Given the description of an element on the screen output the (x, y) to click on. 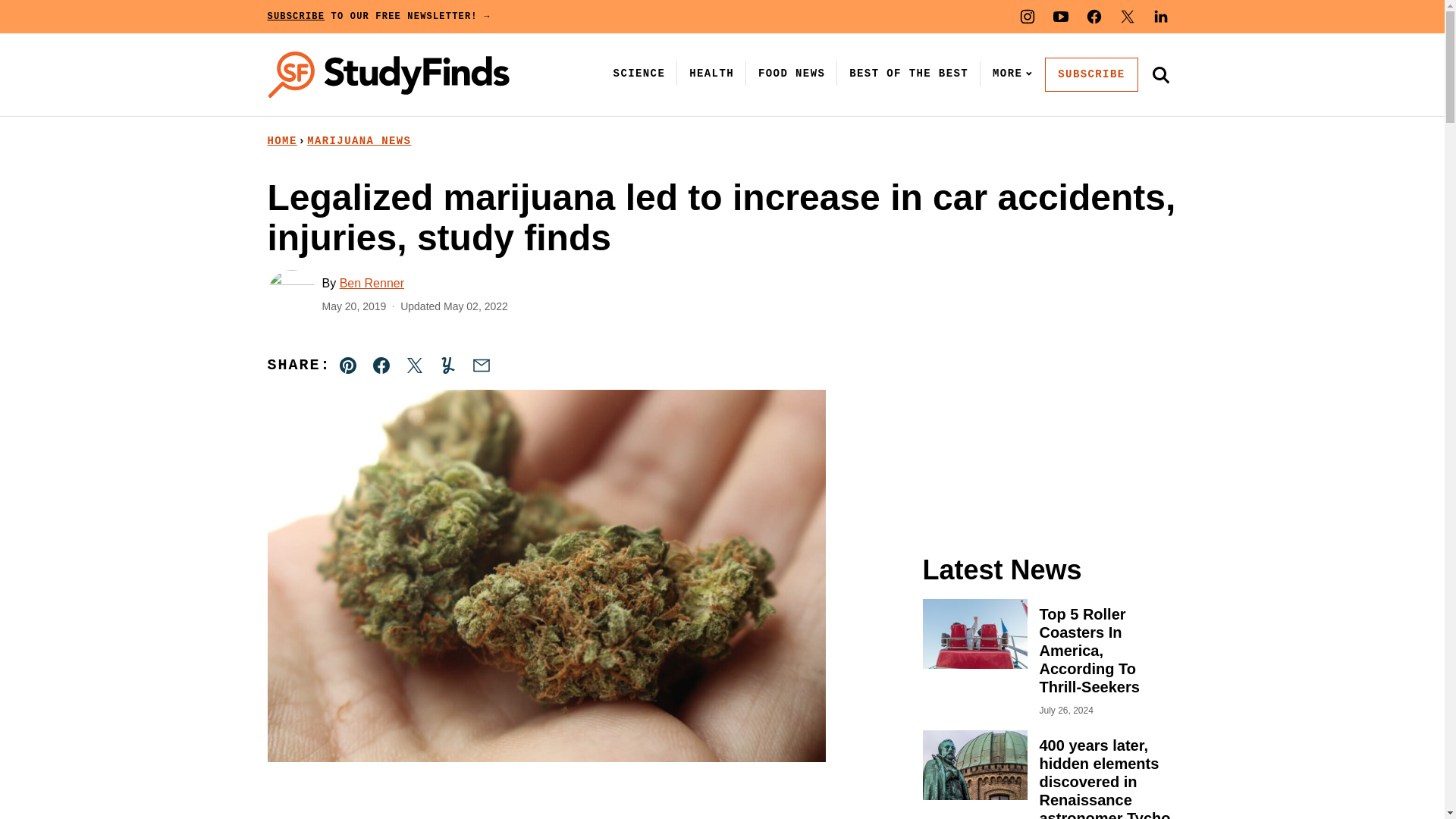
HEALTH (711, 73)
BEST OF THE BEST (908, 73)
FOOD NEWS (791, 73)
SCIENCE (639, 73)
Share on Twitter (413, 365)
Share on Yummly (447, 365)
MORE (1009, 73)
SUBSCRIBE (1091, 74)
Share on Pinterest (348, 365)
Share on Facebook (381, 365)
MARIJUANA NEWS (358, 141)
HOME (281, 141)
Share via Email (480, 365)
